Given the description of an element on the screen output the (x, y) to click on. 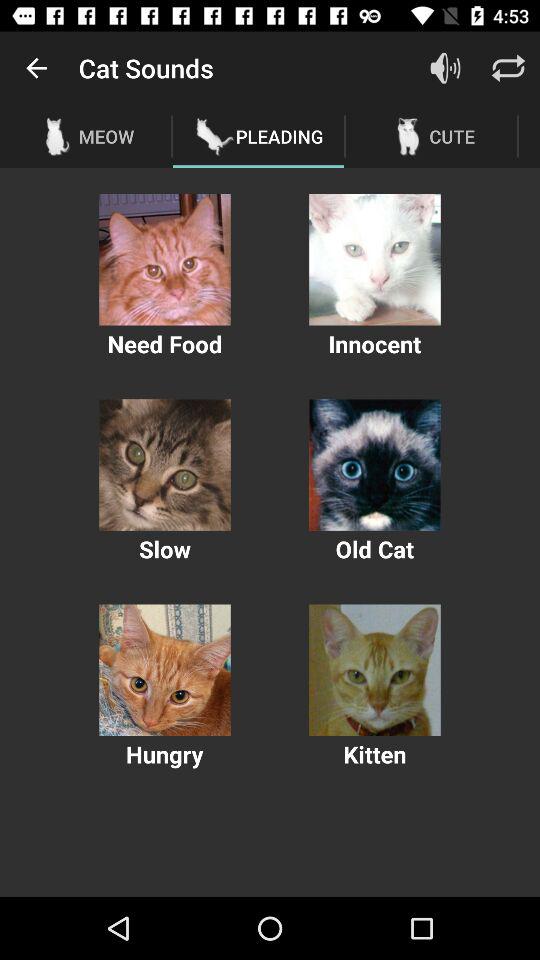
choose kitten (374, 669)
